Given the description of an element on the screen output the (x, y) to click on. 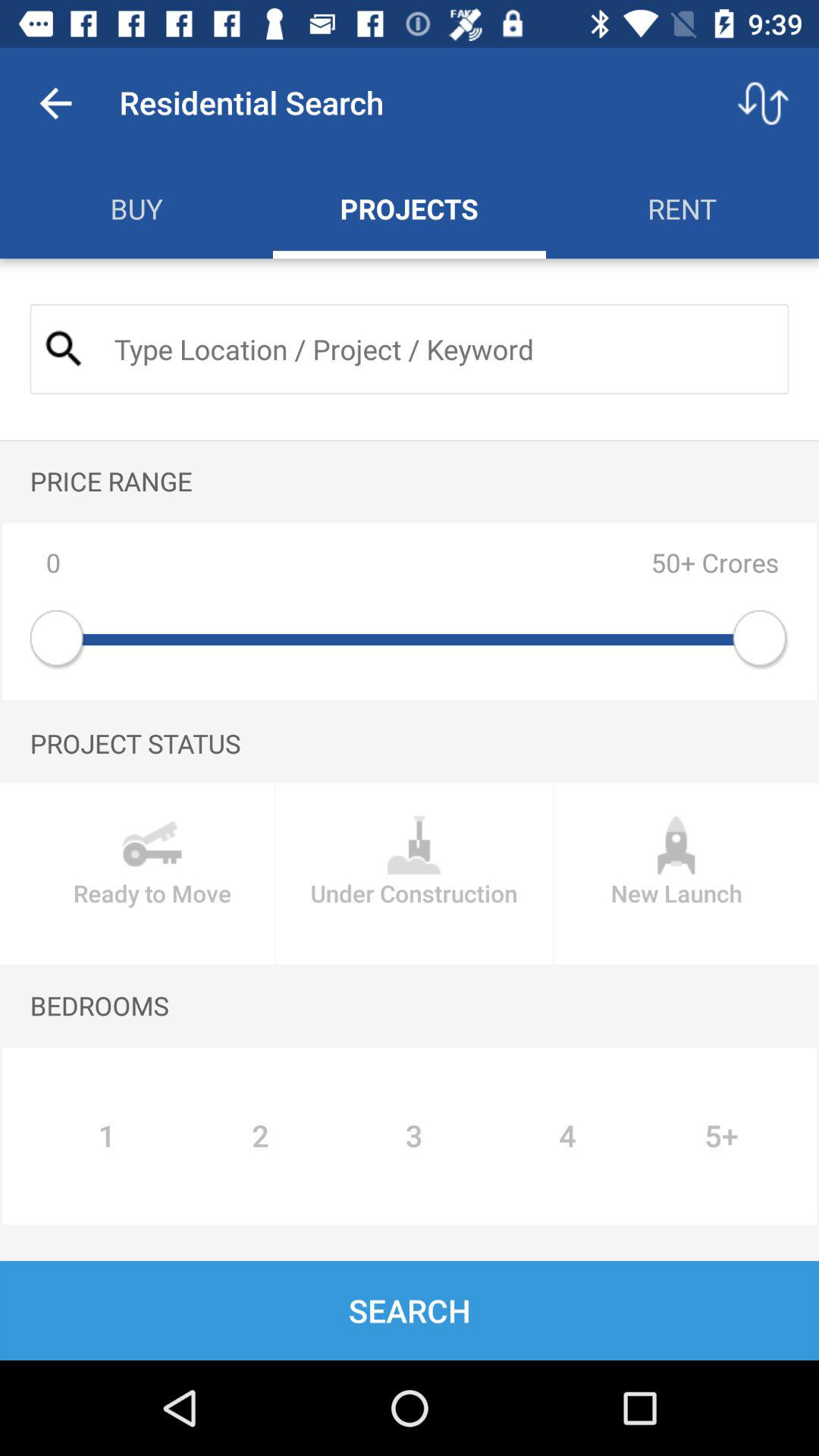
turn on icon to the right of 2 item (413, 1135)
